Given the description of an element on the screen output the (x, y) to click on. 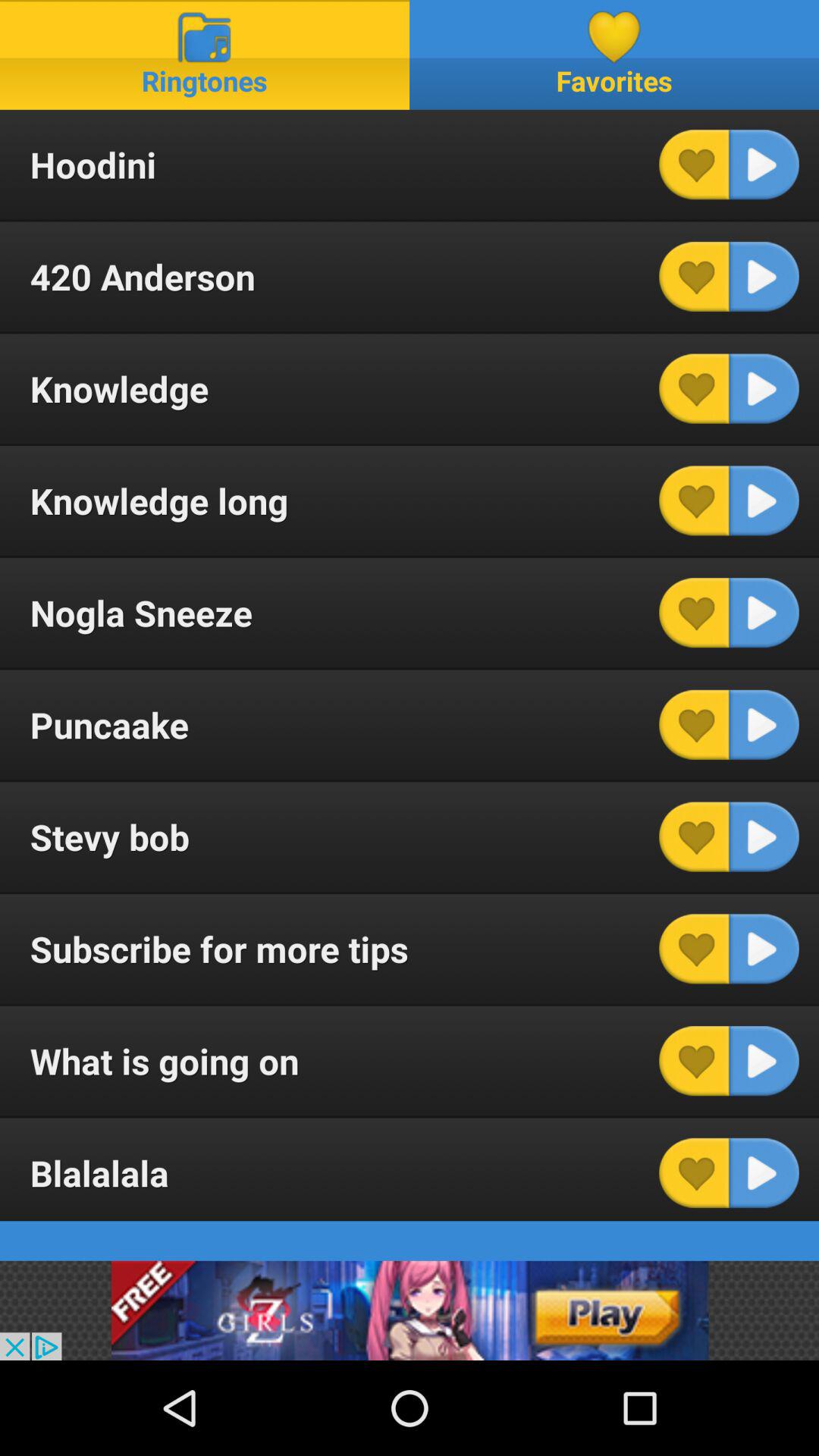
love it (694, 836)
